Given the description of an element on the screen output the (x, y) to click on. 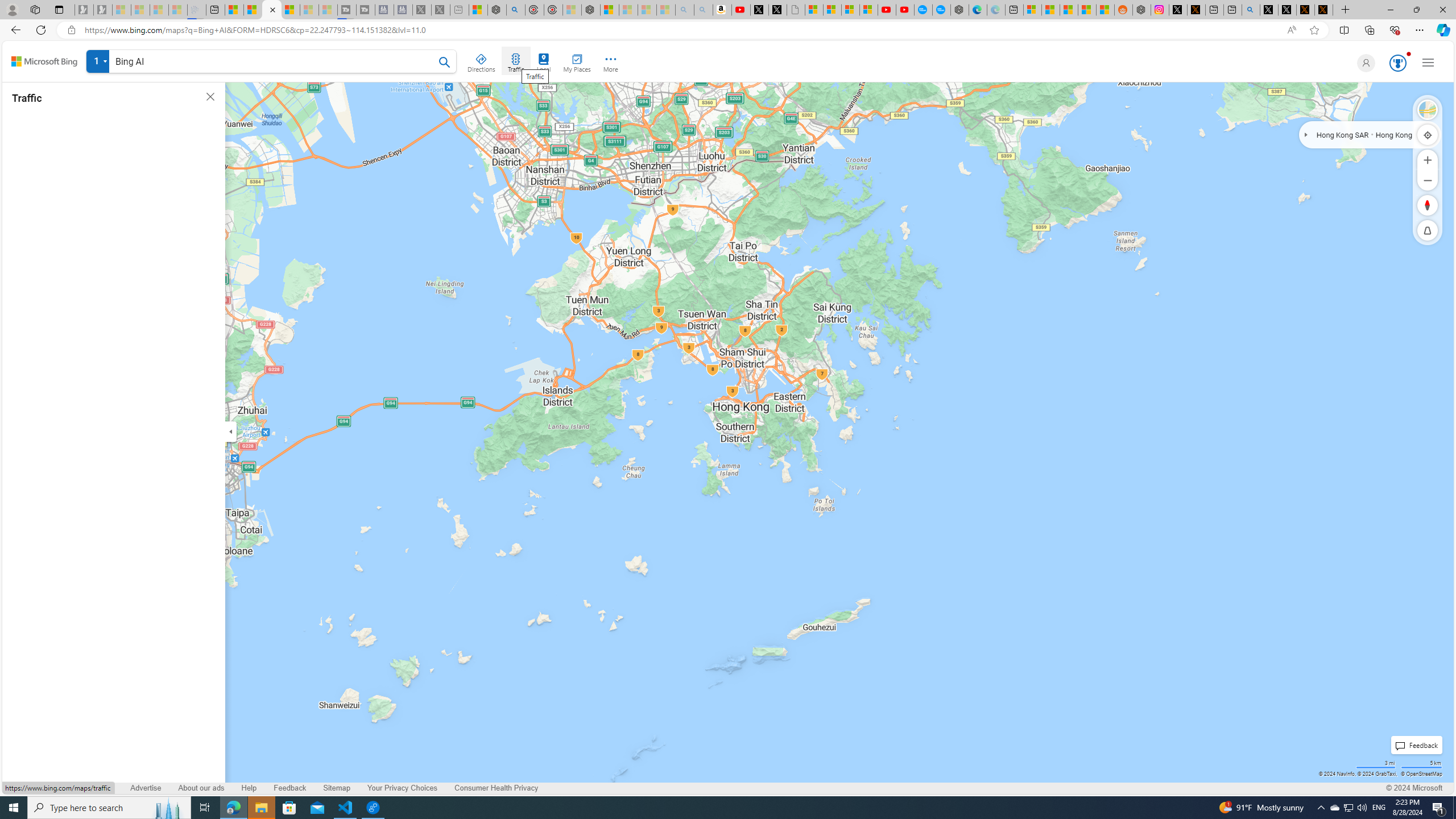
Local (543, 60)
GitHub (@github) / X (1287, 9)
Shanghai, China weather forecast | Microsoft Weather (1050, 9)
Directions (481, 60)
My Places (576, 60)
Streetside (1427, 109)
